Given the description of an element on the screen output the (x, y) to click on. 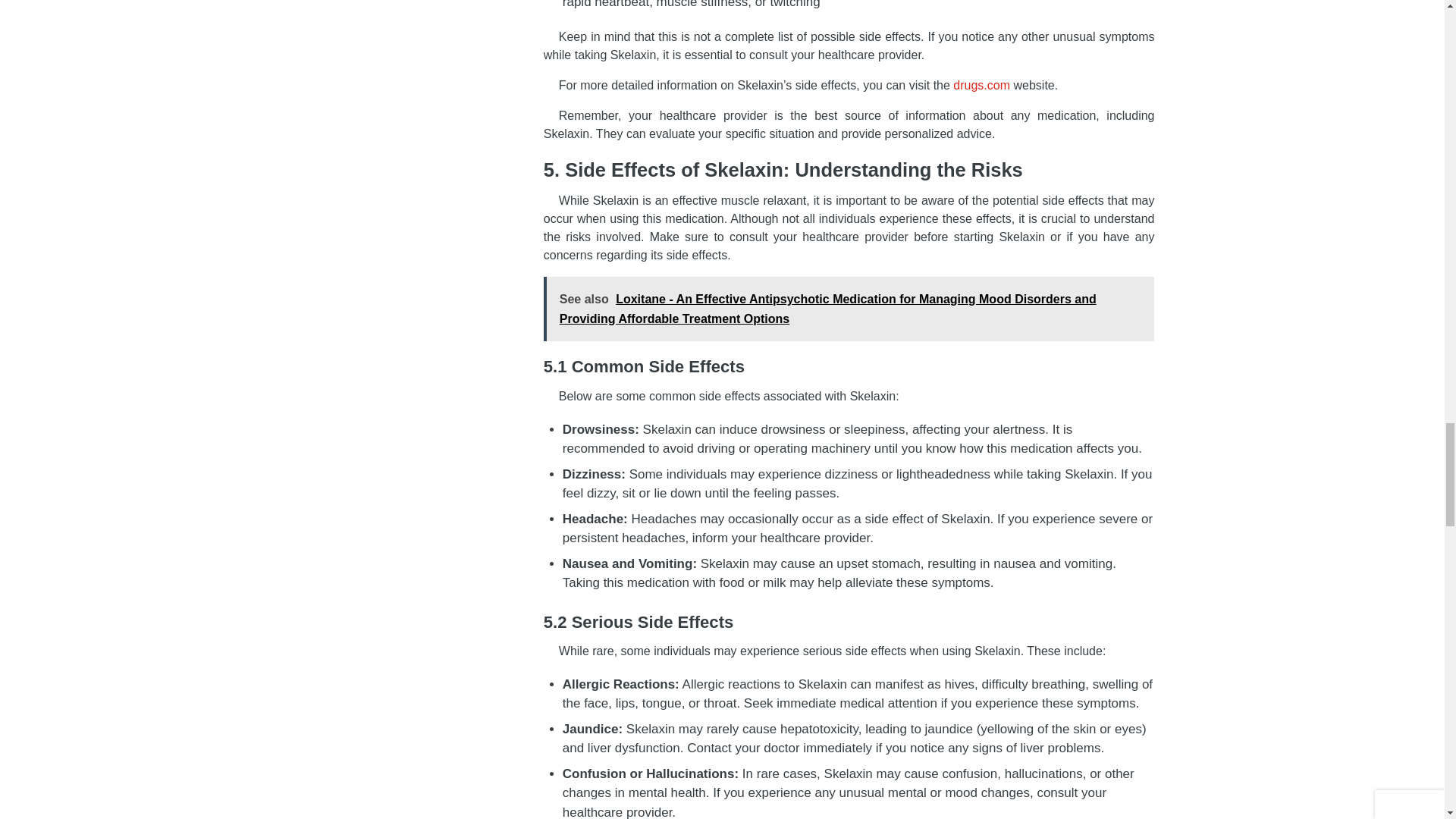
drugs.com (981, 84)
